Given the description of an element on the screen output the (x, y) to click on. 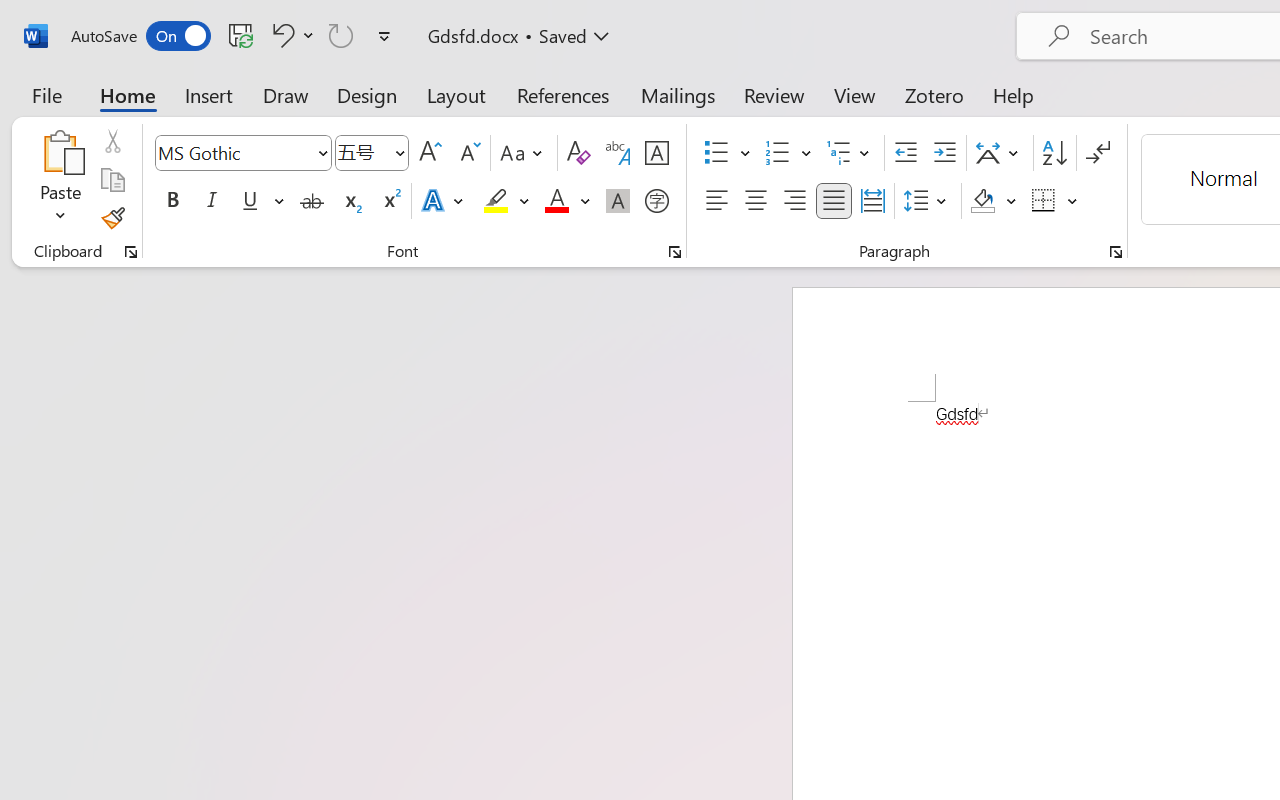
Font Color Red (556, 201)
Can't Repeat (341, 35)
Undo Font Formatting (290, 35)
